Given the description of an element on the screen output the (x, y) to click on. 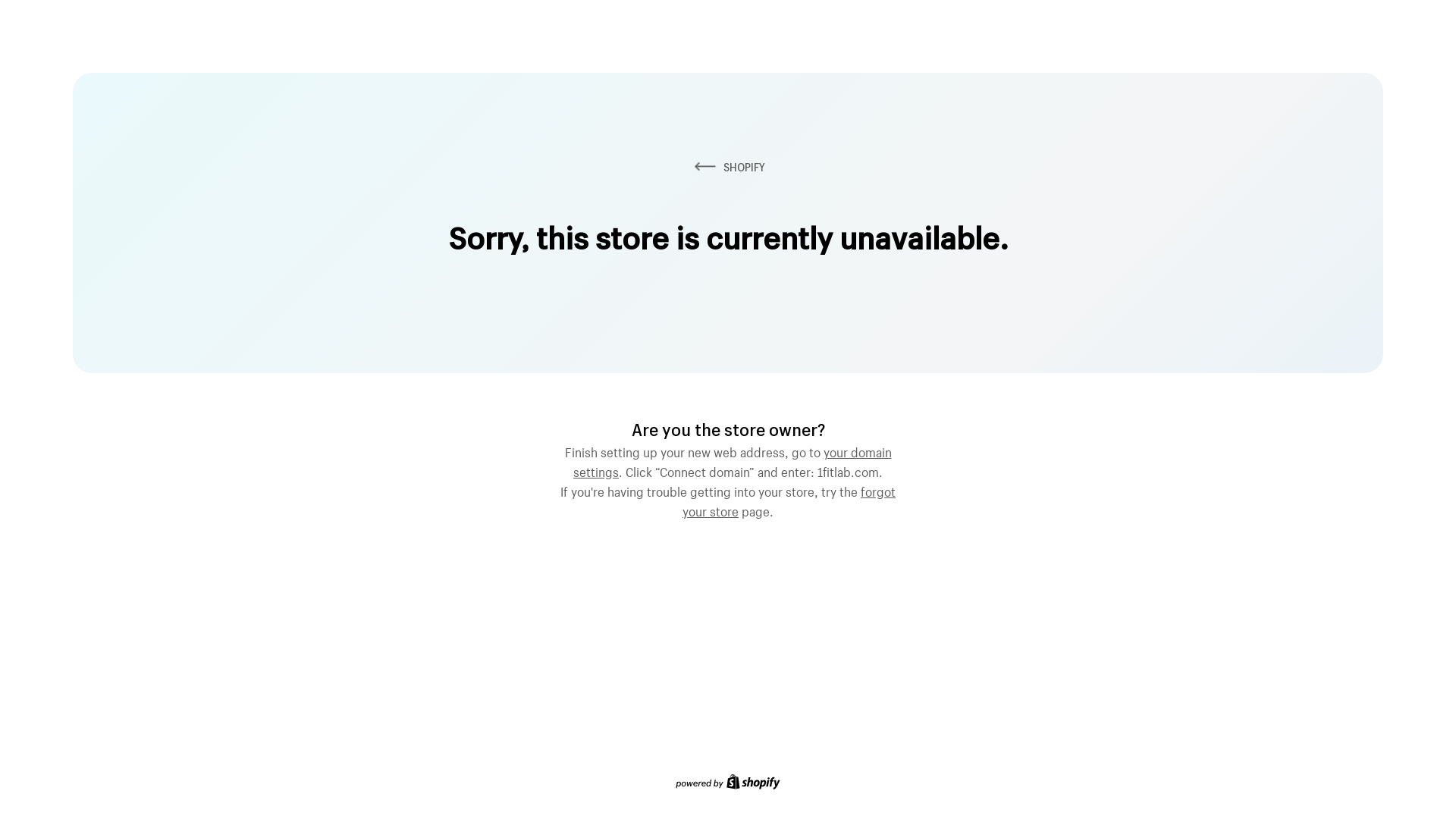
your domain settings Element type: text (732, 460)
SHOPIFY Element type: text (727, 167)
forgot your store Element type: text (788, 499)
